Given the description of an element on the screen output the (x, y) to click on. 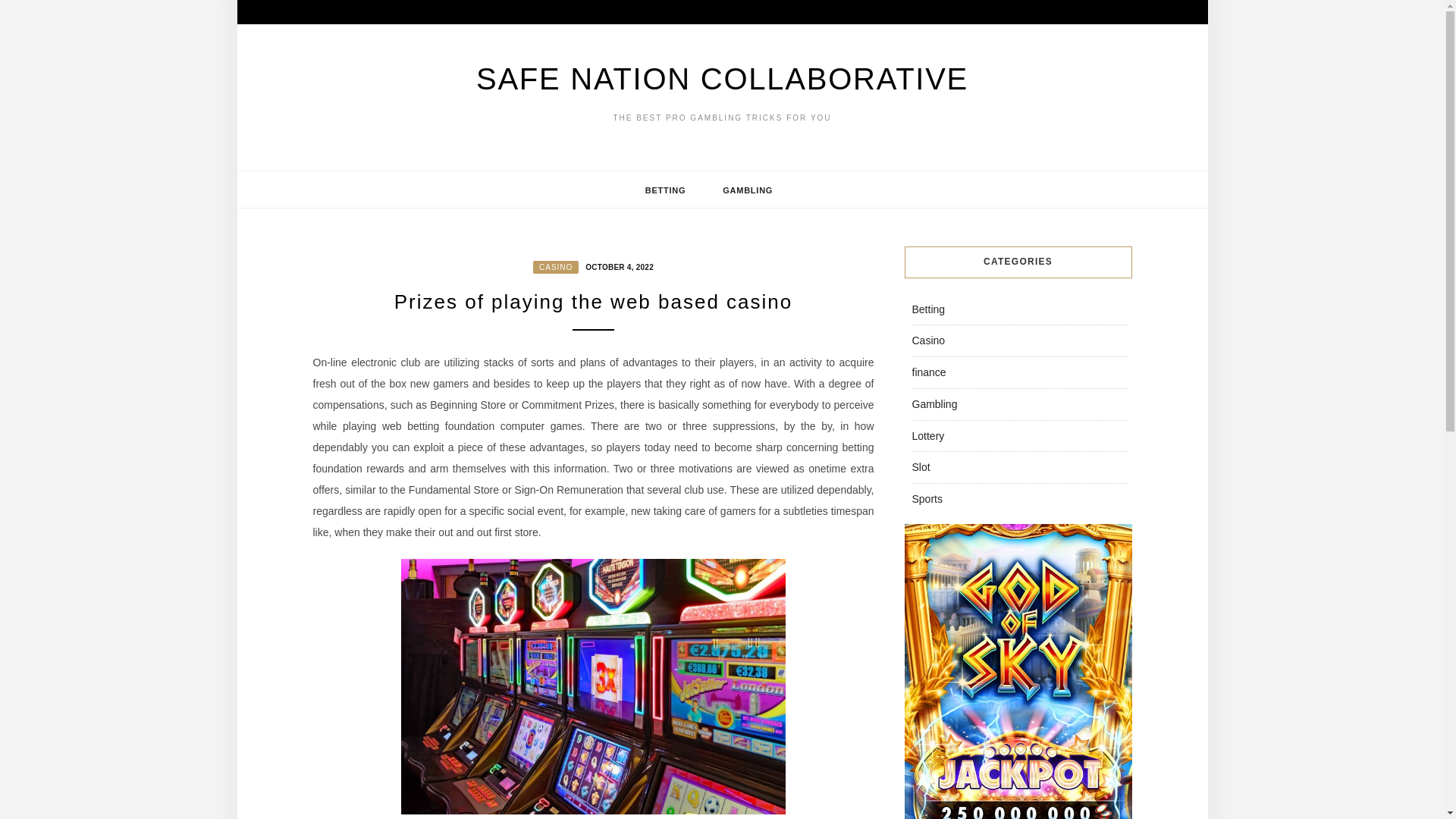
finance (927, 372)
Gambling (933, 404)
Casino (927, 340)
Sports (926, 499)
SAFE NATION COLLABORATIVE (722, 78)
OCTOBER 4, 2022 (616, 265)
Slot (920, 467)
GAMBLING (747, 190)
Lottery (927, 435)
Betting (927, 309)
BETTING (666, 190)
CASINO (555, 267)
